Given the description of an element on the screen output the (x, y) to click on. 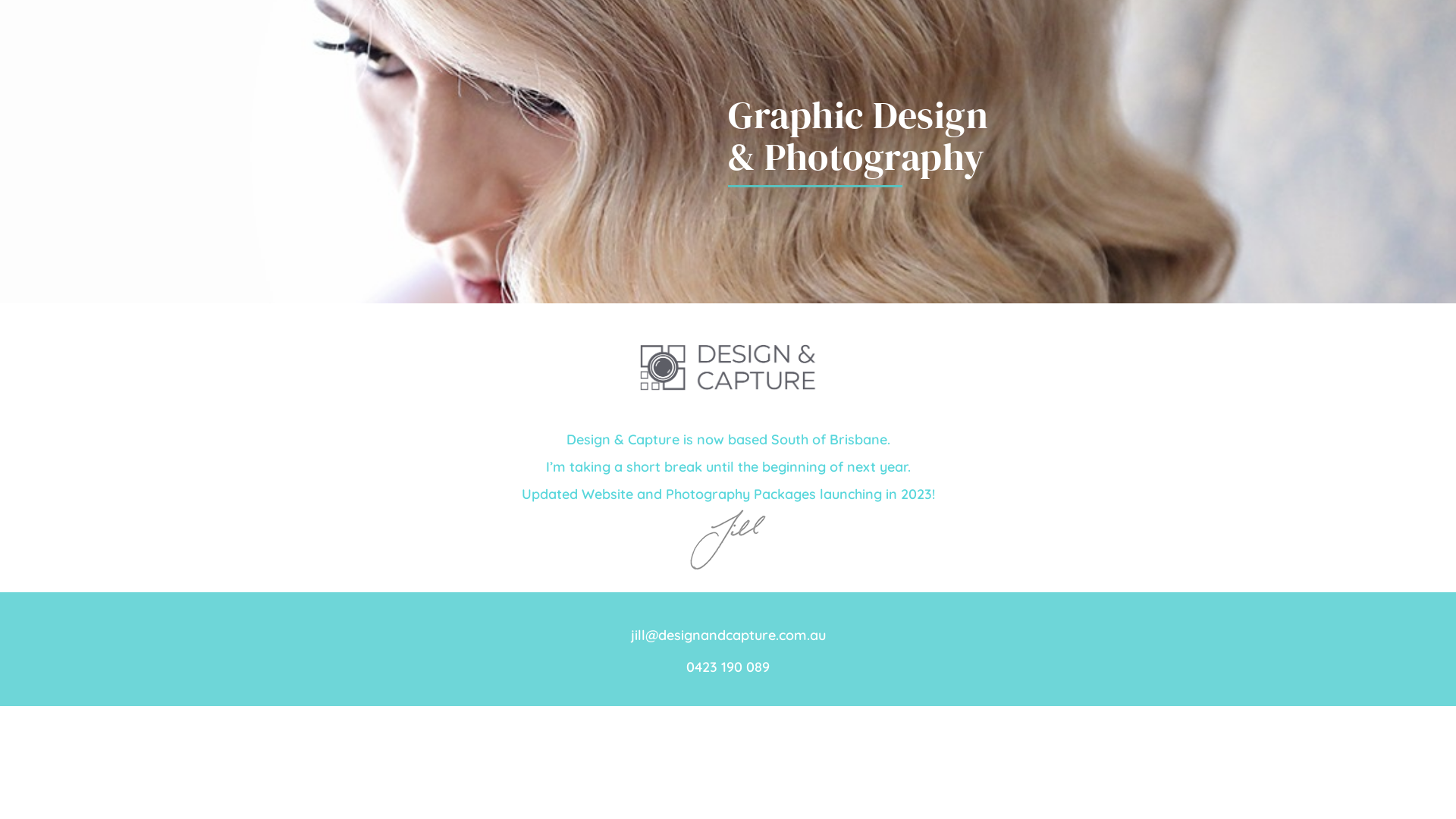
jill@designandcapture.com.au Element type: text (727, 634)
Jill-Signature-Grey Element type: hover (727, 539)
DC-Colour-LOGO-1200x630px Element type: hover (727, 367)
